Given the description of an element on the screen output the (x, y) to click on. 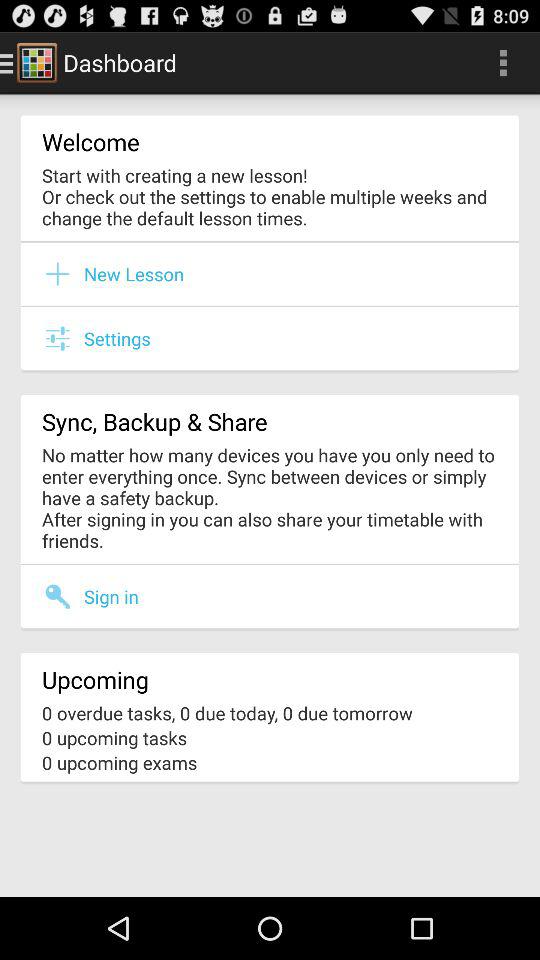
tap the item above the upcoming item (111, 596)
